Given the description of an element on the screen output the (x, y) to click on. 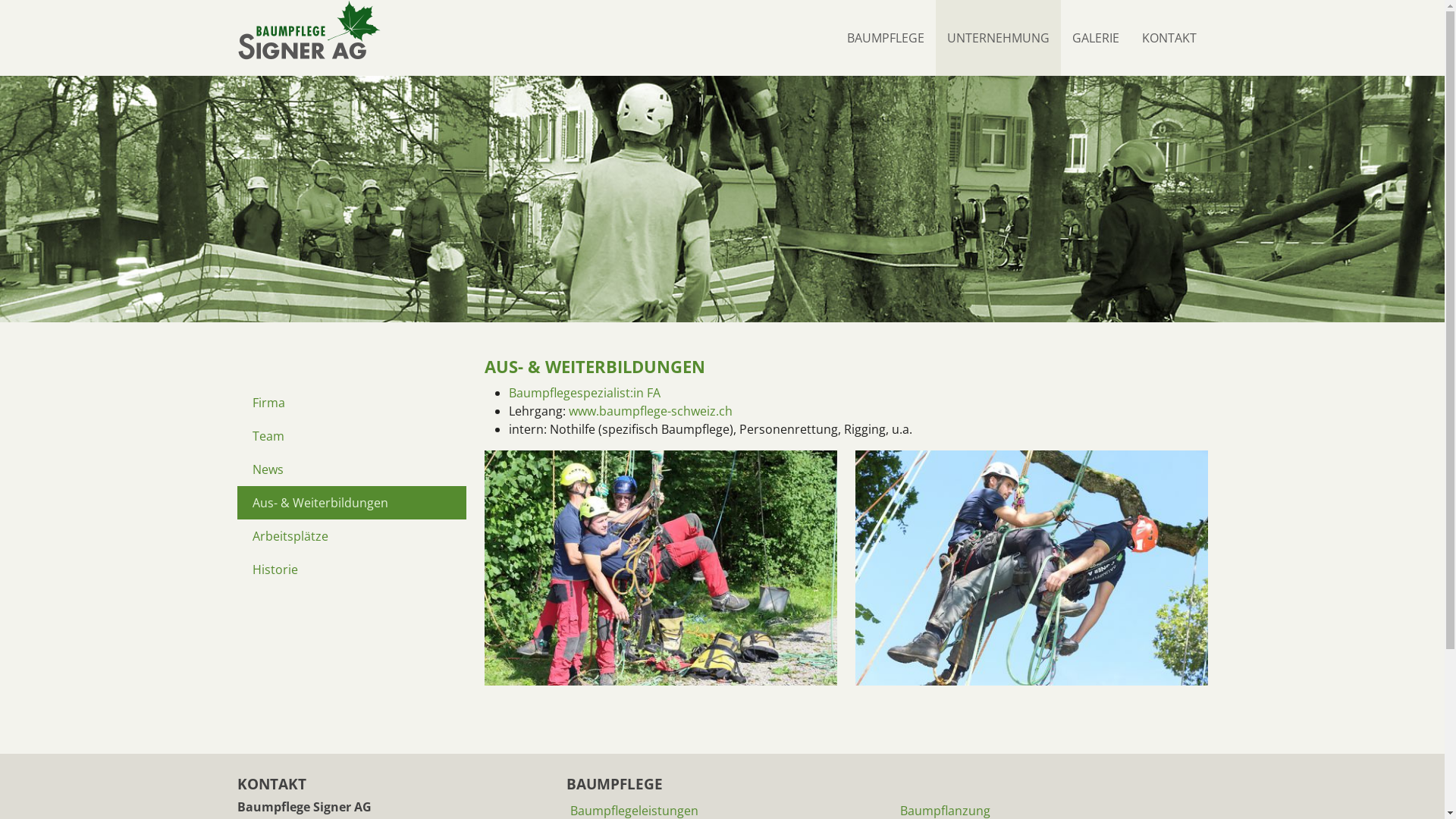
News Element type: text (350, 469)
BAUMPFLEGE Element type: text (885, 37)
UNTERNEHMUNG Element type: text (997, 37)
Baumpflegespezialist:in FA Element type: text (583, 392)
GALERIE Element type: text (1094, 37)
Team Element type: text (350, 435)
www.baumpflege-schweiz.ch Element type: text (650, 410)
Historie Element type: text (350, 569)
Baumpflege Signer Element type: hover (308, 30)
Aus- & Weiterbildungen Element type: text (350, 502)
KONTAKT Element type: text (1168, 37)
Firma Element type: text (350, 402)
